Given the description of an element on the screen output the (x, y) to click on. 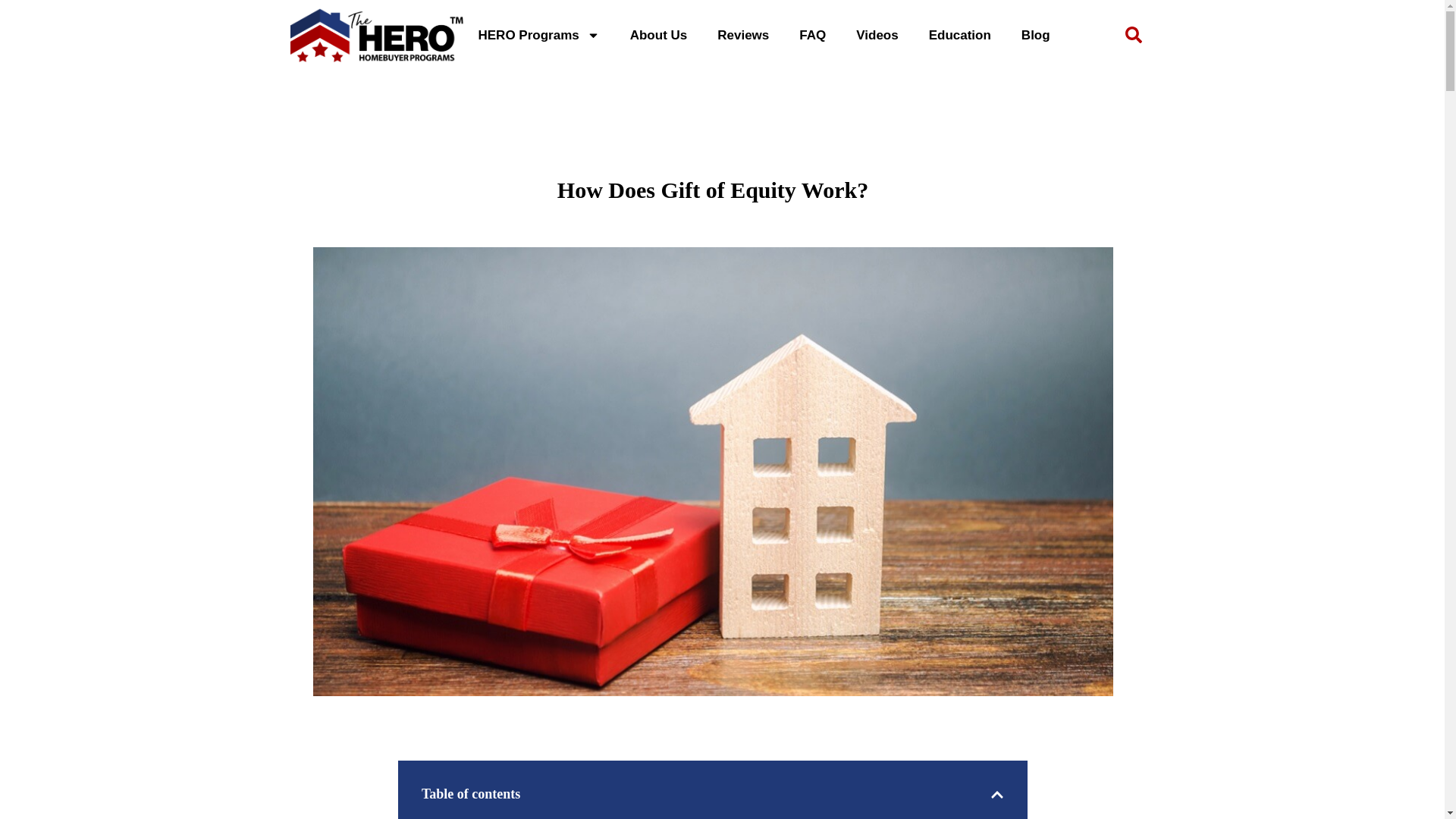
FAQ (812, 34)
Education (960, 34)
Blog (1035, 34)
HERO Programs (538, 34)
Videos (876, 34)
About Us (658, 34)
Reviews (742, 34)
